Given the description of an element on the screen output the (x, y) to click on. 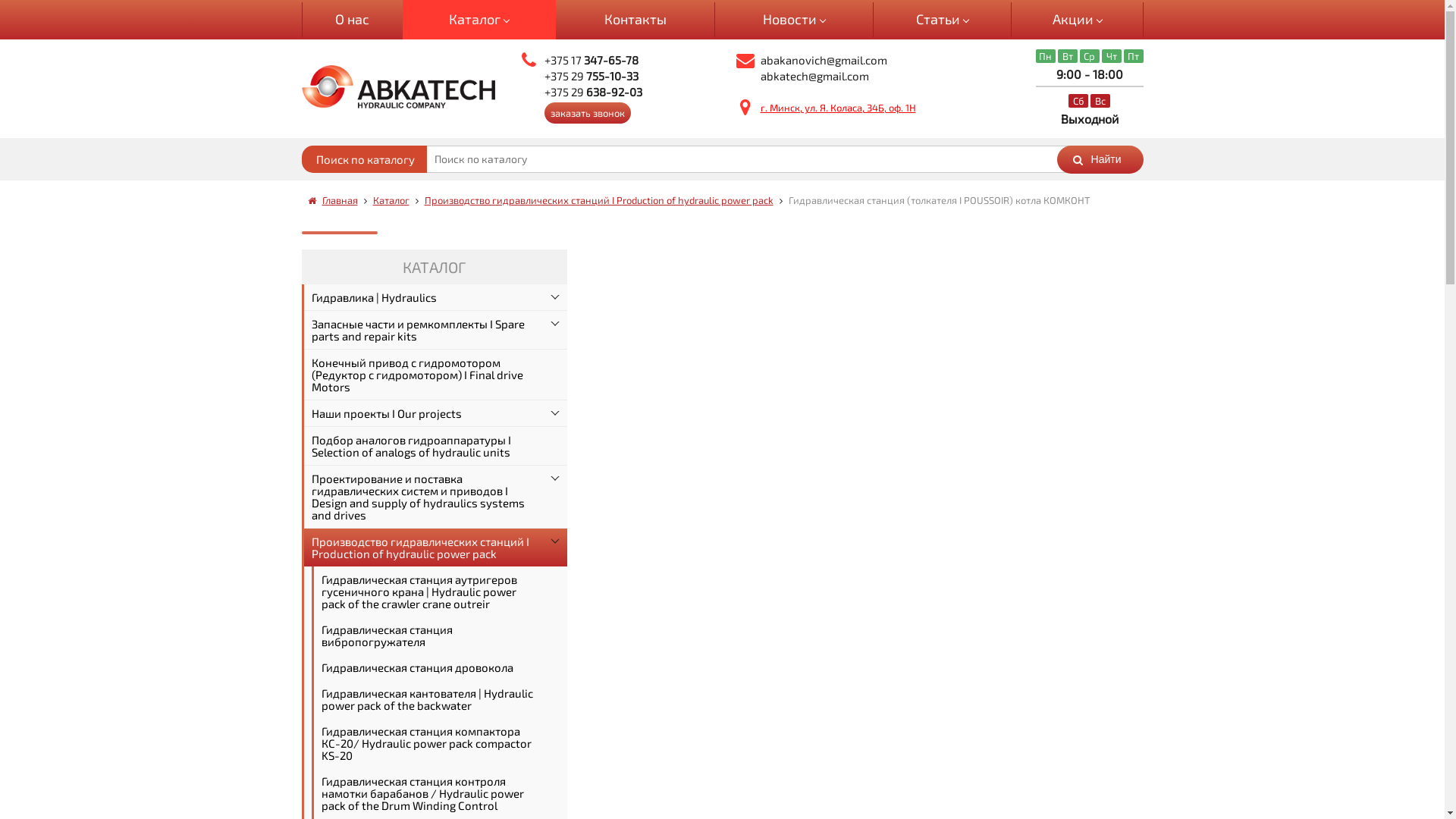
abkatech@gmail.com Element type: text (813, 75)
+375 29 638-92-03 Element type: text (593, 91)
abakanovich@gmail.com Element type: text (822, 59)
+375 29 755-10-33 Element type: text (591, 75)
+375 17 347-65-78 Element type: text (591, 59)
